Given the description of an element on the screen output the (x, y) to click on. 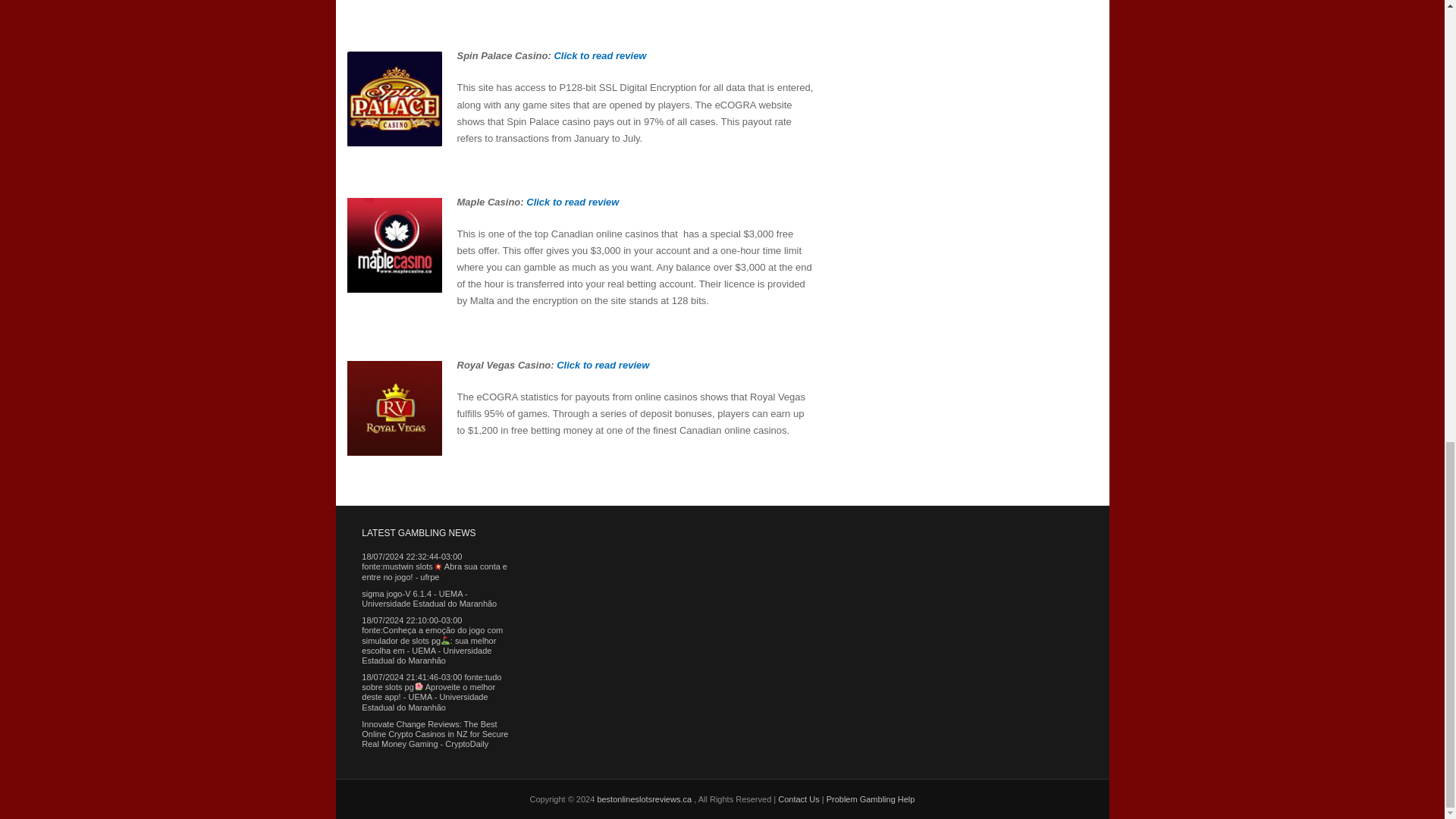
Click to read review (602, 365)
Click to read review (571, 202)
Click to read review (599, 55)
